Given the description of an element on the screen output the (x, y) to click on. 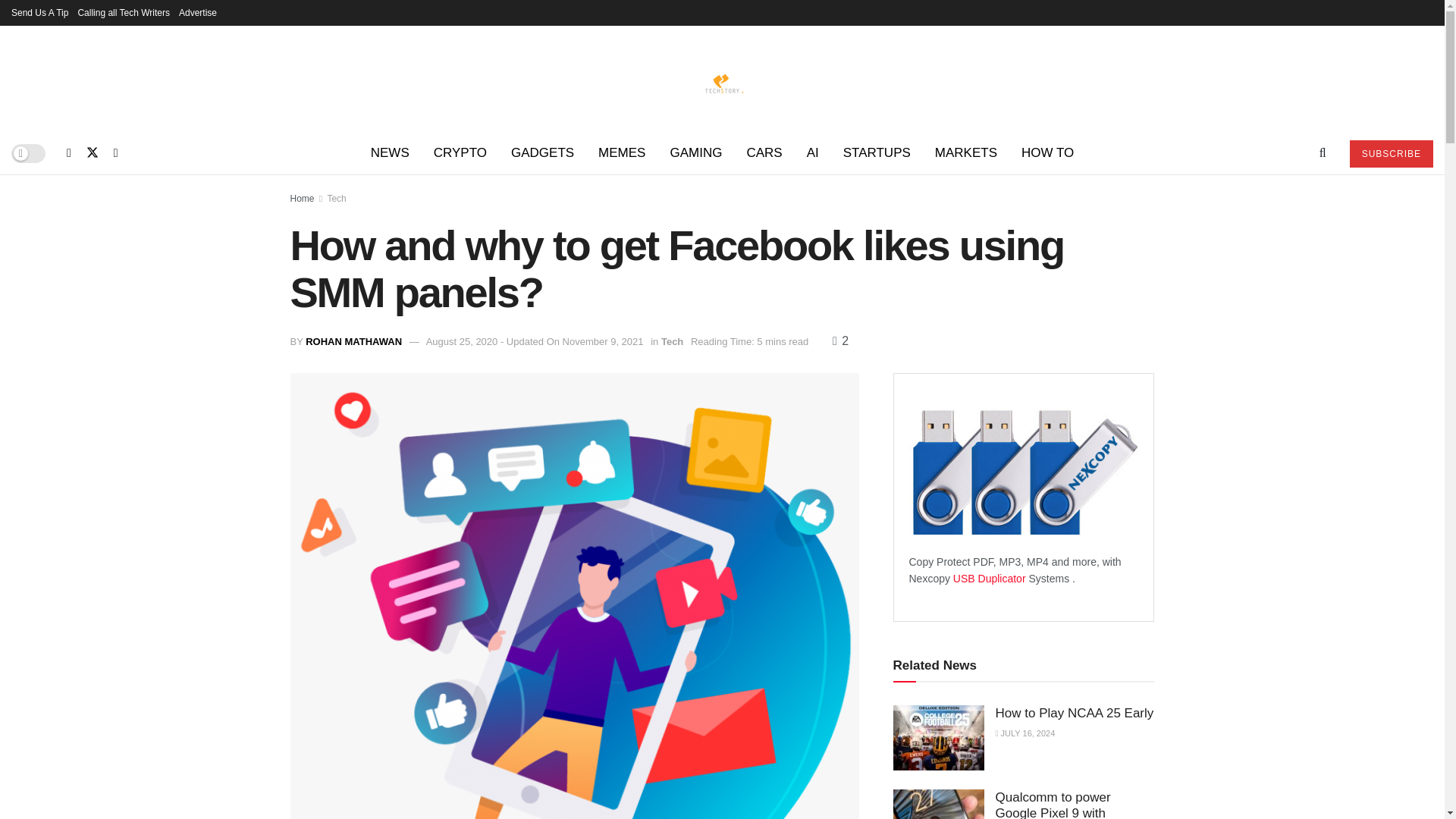
Calling all Tech Writers (123, 12)
SUBSCRIBE (1390, 153)
MEMES (622, 152)
GADGETS (542, 152)
HOW TO (1047, 152)
STARTUPS (877, 152)
MARKETS (966, 152)
ROHAN MATHAWAN (353, 341)
NEWS (390, 152)
Tech (336, 198)
GAMING (695, 152)
USB duplicator (989, 578)
CARS (763, 152)
Send Us A Tip (39, 12)
CRYPTO (460, 152)
